Given the description of an element on the screen output the (x, y) to click on. 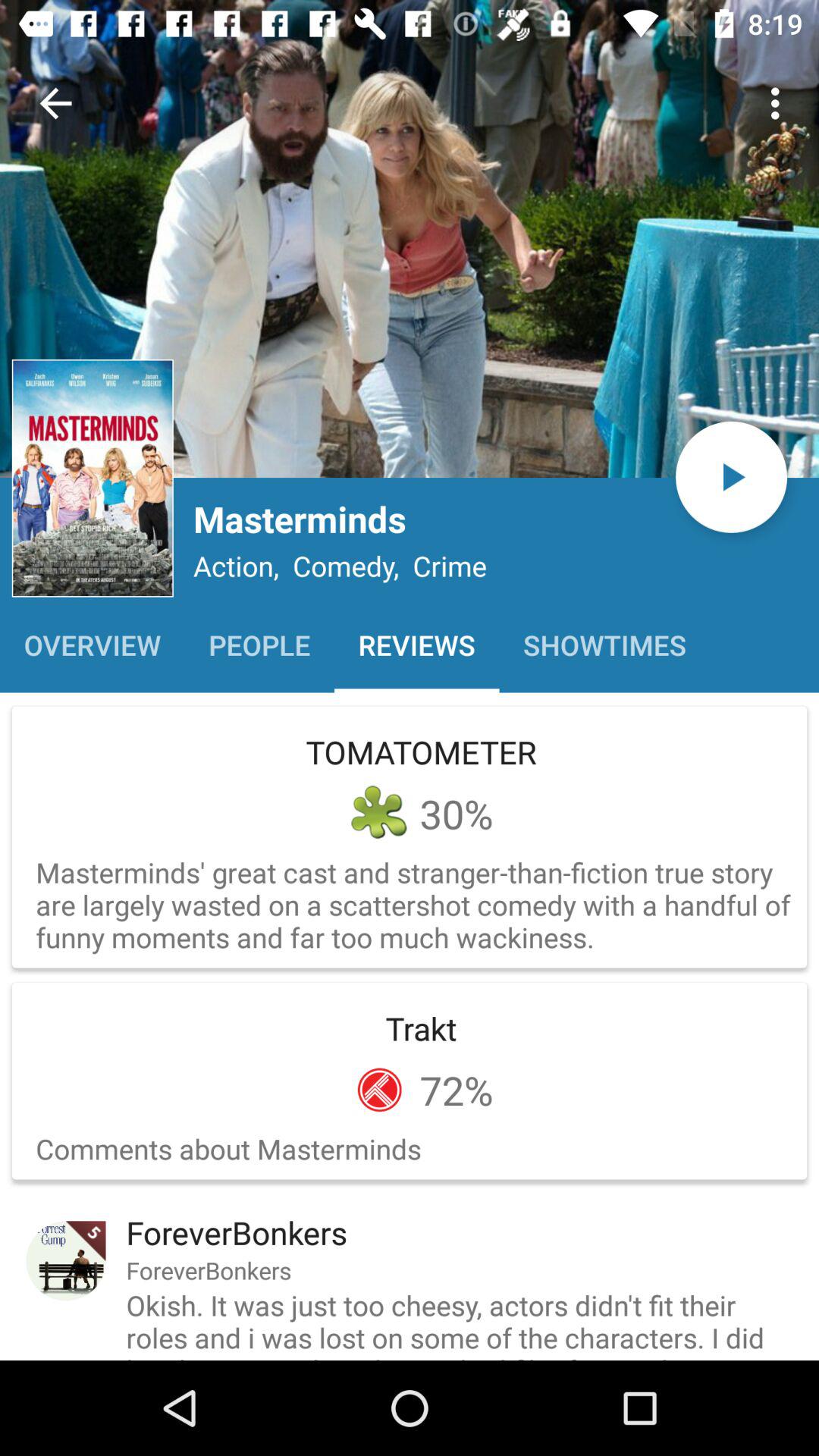
enlarge image (409, 238)
